Given the description of an element on the screen output the (x, y) to click on. 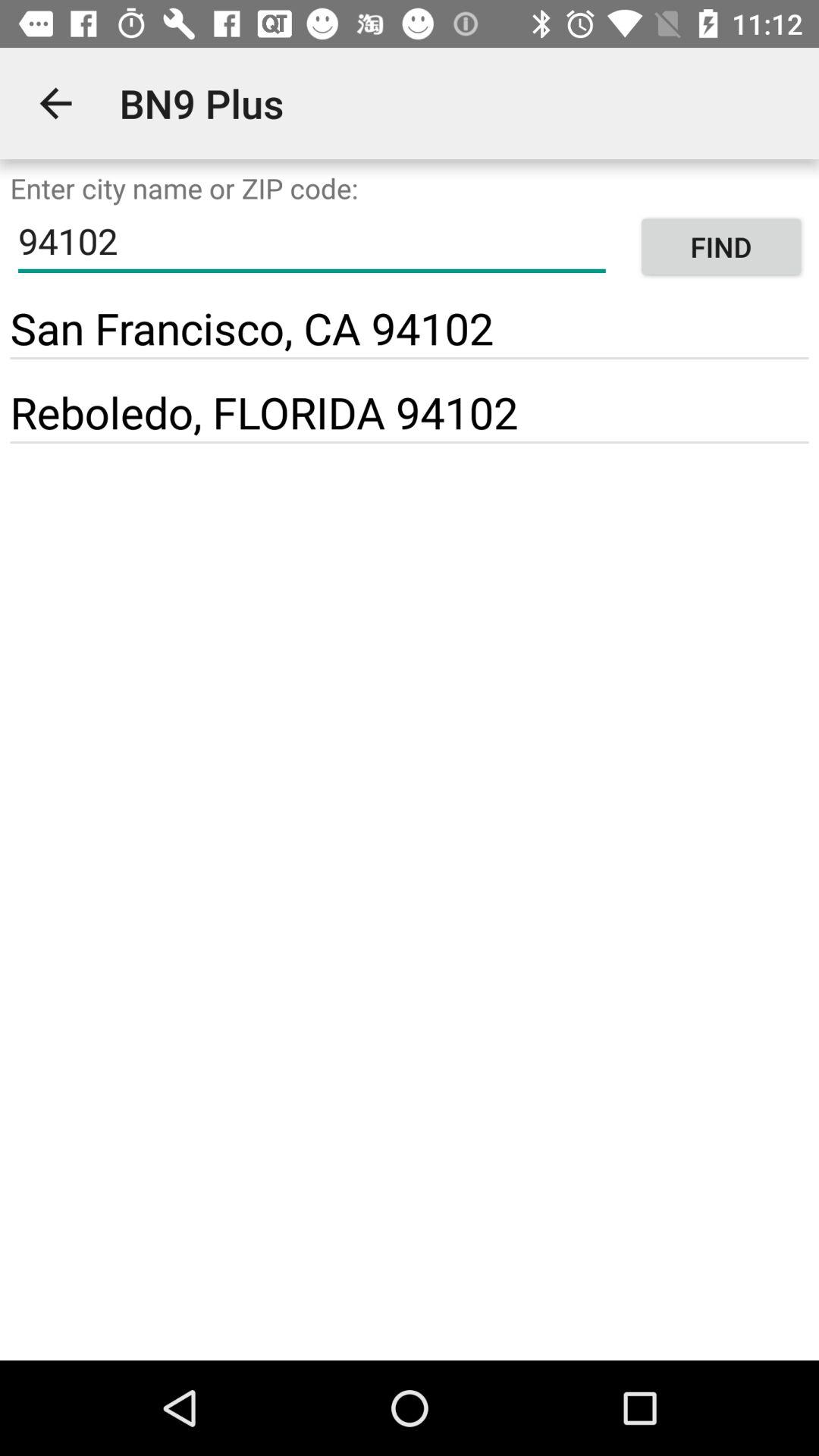
turn off san francisco ca item (251, 327)
